Given the description of an element on the screen output the (x, y) to click on. 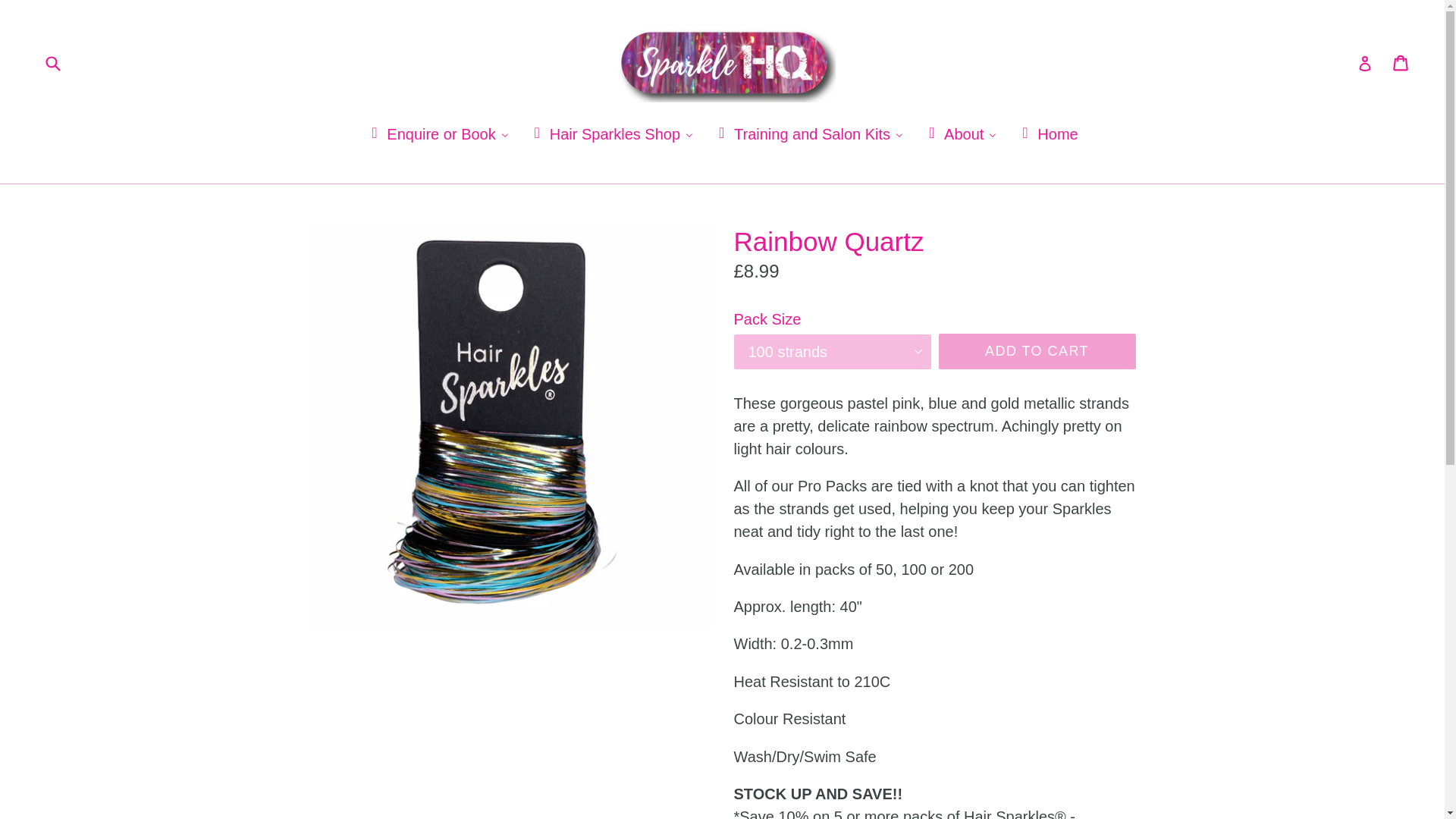
Hair Sparkles Shop (611, 134)
Enquire or Book (437, 134)
Log in (1364, 62)
Submit (1401, 63)
